Given the description of an element on the screen output the (x, y) to click on. 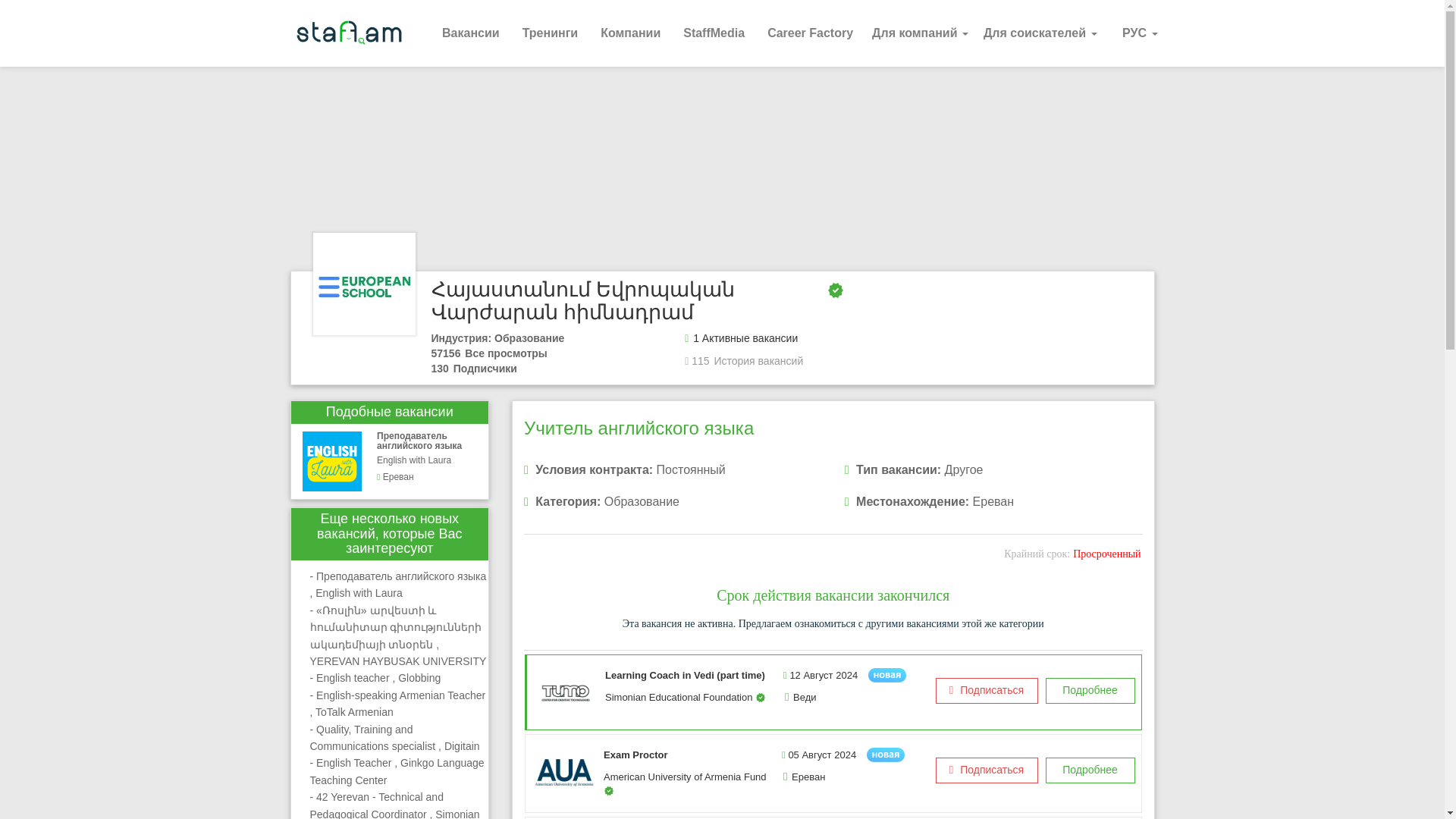
StaffMedia (713, 33)
Career Factory (809, 33)
